Given the description of an element on the screen output the (x, y) to click on. 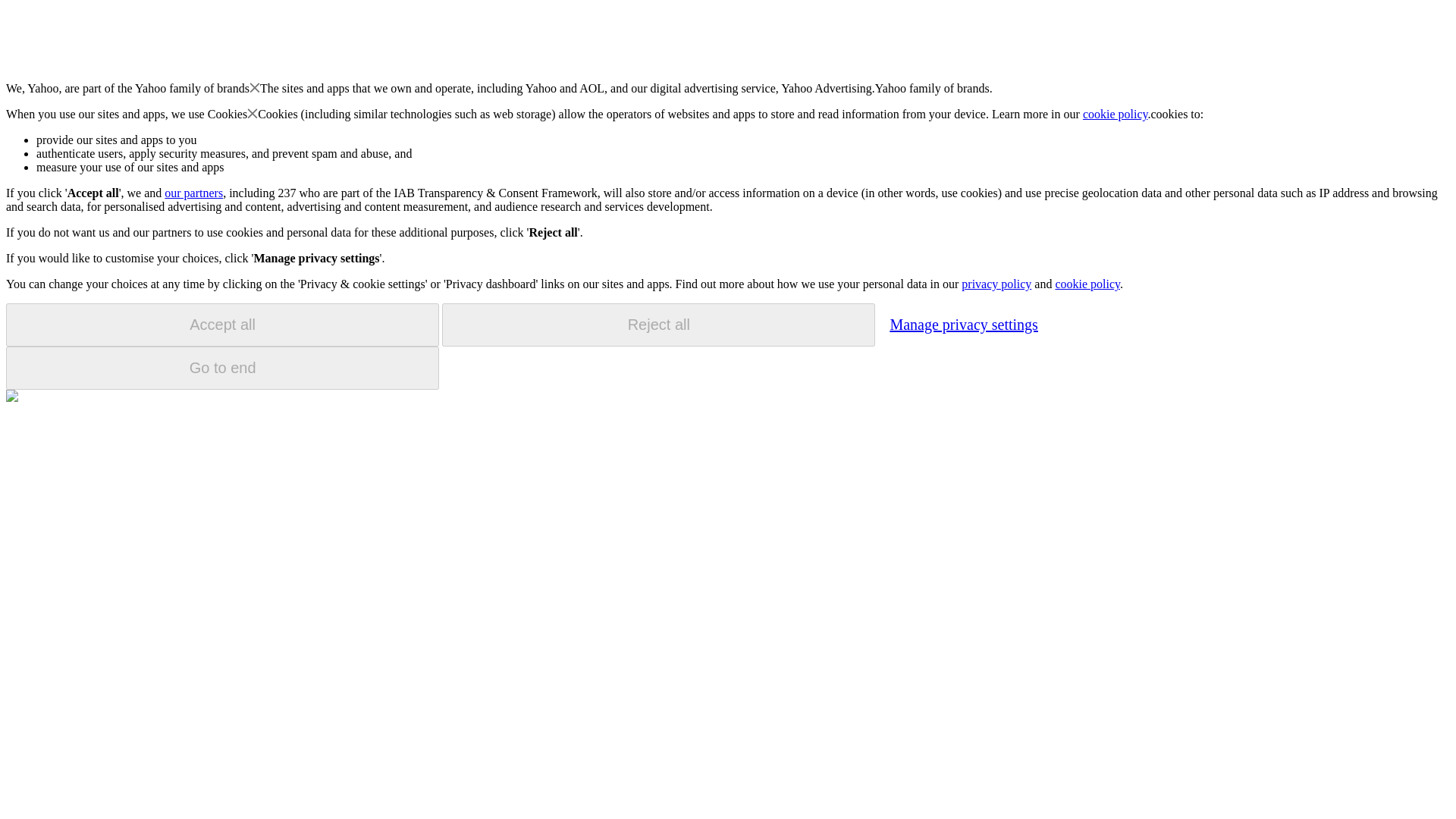
Accept all (222, 324)
Manage privacy settings (963, 323)
cookie policy (1086, 283)
our partners (193, 192)
cookie policy (1115, 113)
privacy policy (995, 283)
Go to end (222, 367)
Reject all (658, 324)
